Given the description of an element on the screen output the (x, y) to click on. 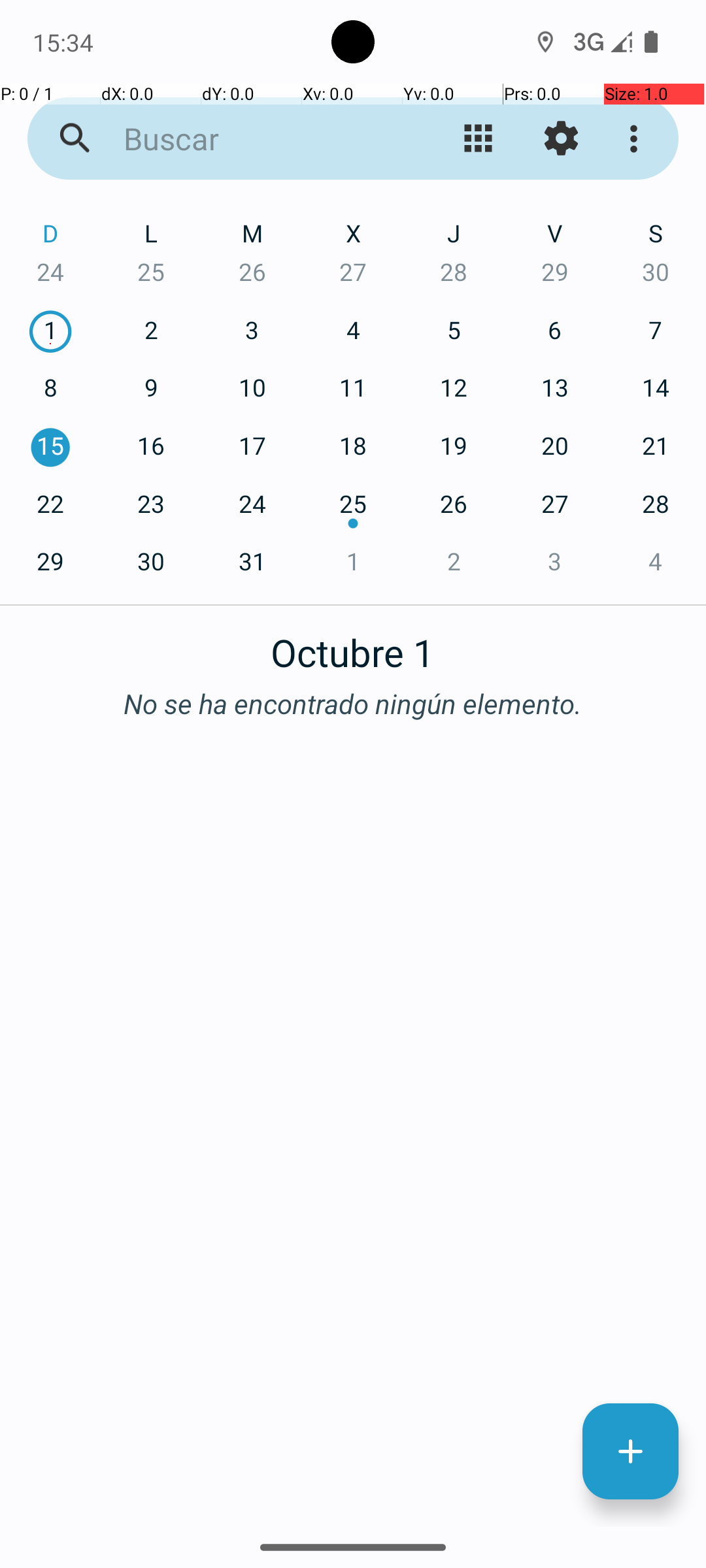
Octubre 1 Element type: android.widget.TextView (352, 644)
No se ha encontrado ningún elemento. Element type: android.widget.TextView (352, 702)
